Given the description of an element on the screen output the (x, y) to click on. 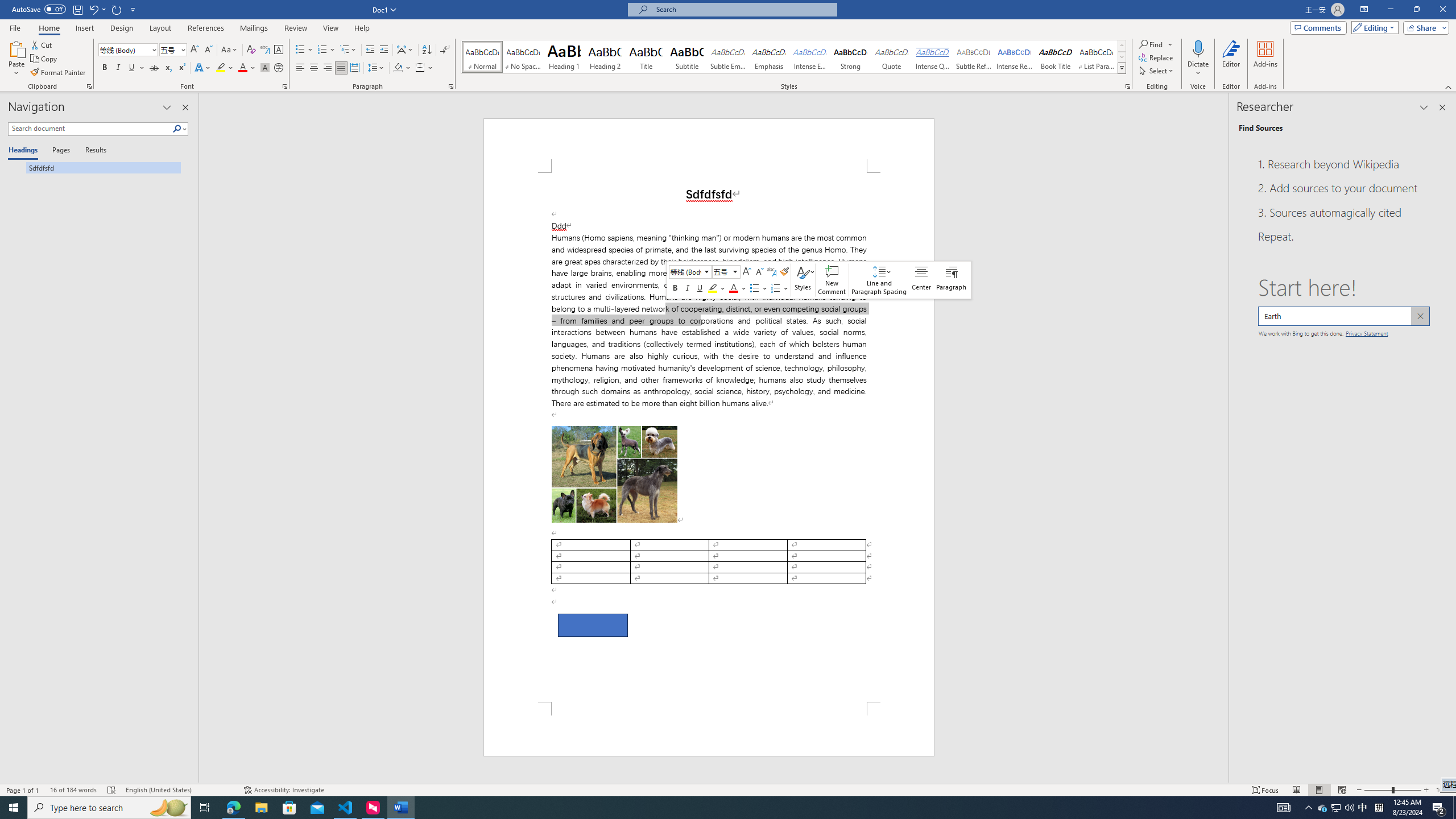
Undo  (96, 9)
Book Title (1055, 56)
Intense Emphasis (809, 56)
Class: NetUITextbox (720, 271)
